Given the description of an element on the screen output the (x, y) to click on. 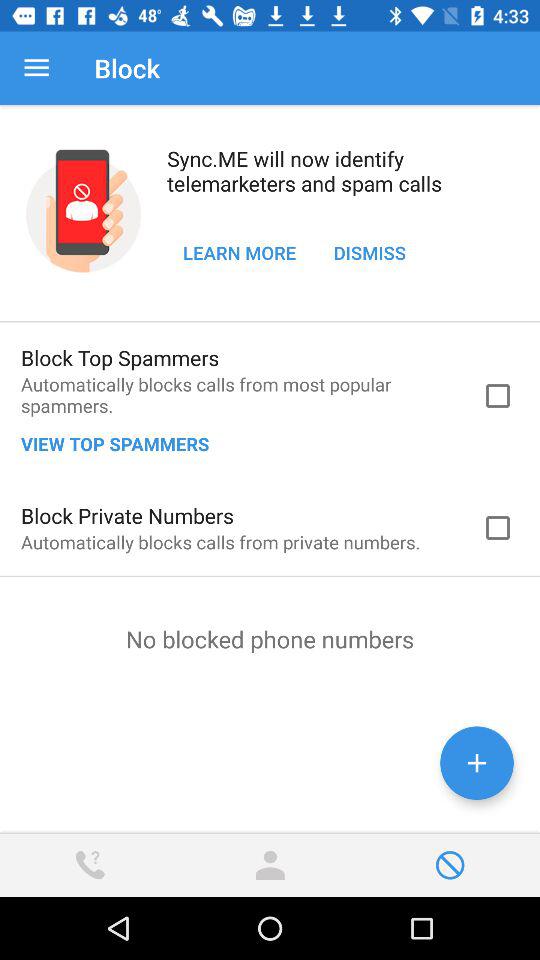
turn off the item to the right of learn more item (369, 252)
